Given the description of an element on the screen output the (x, y) to click on. 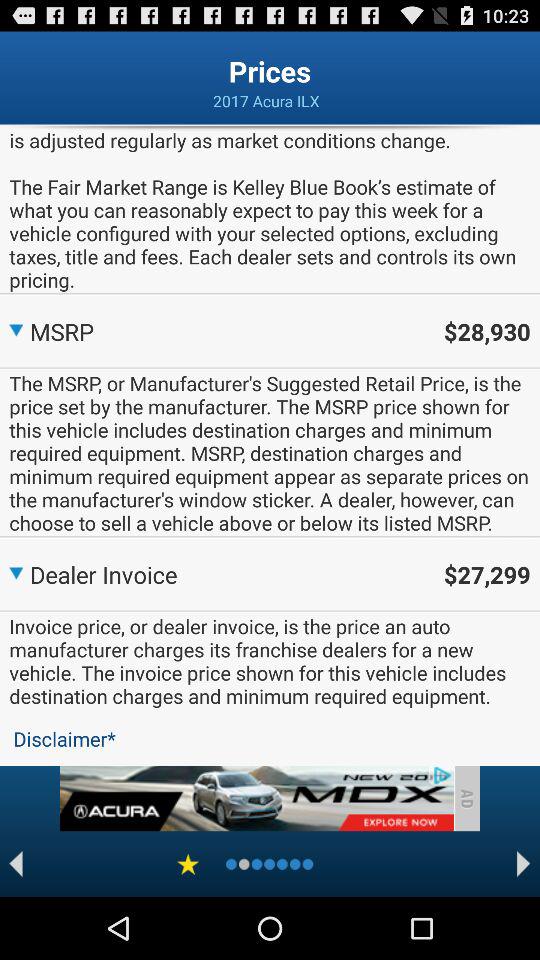
next button (523, 864)
